Given the description of an element on the screen output the (x, y) to click on. 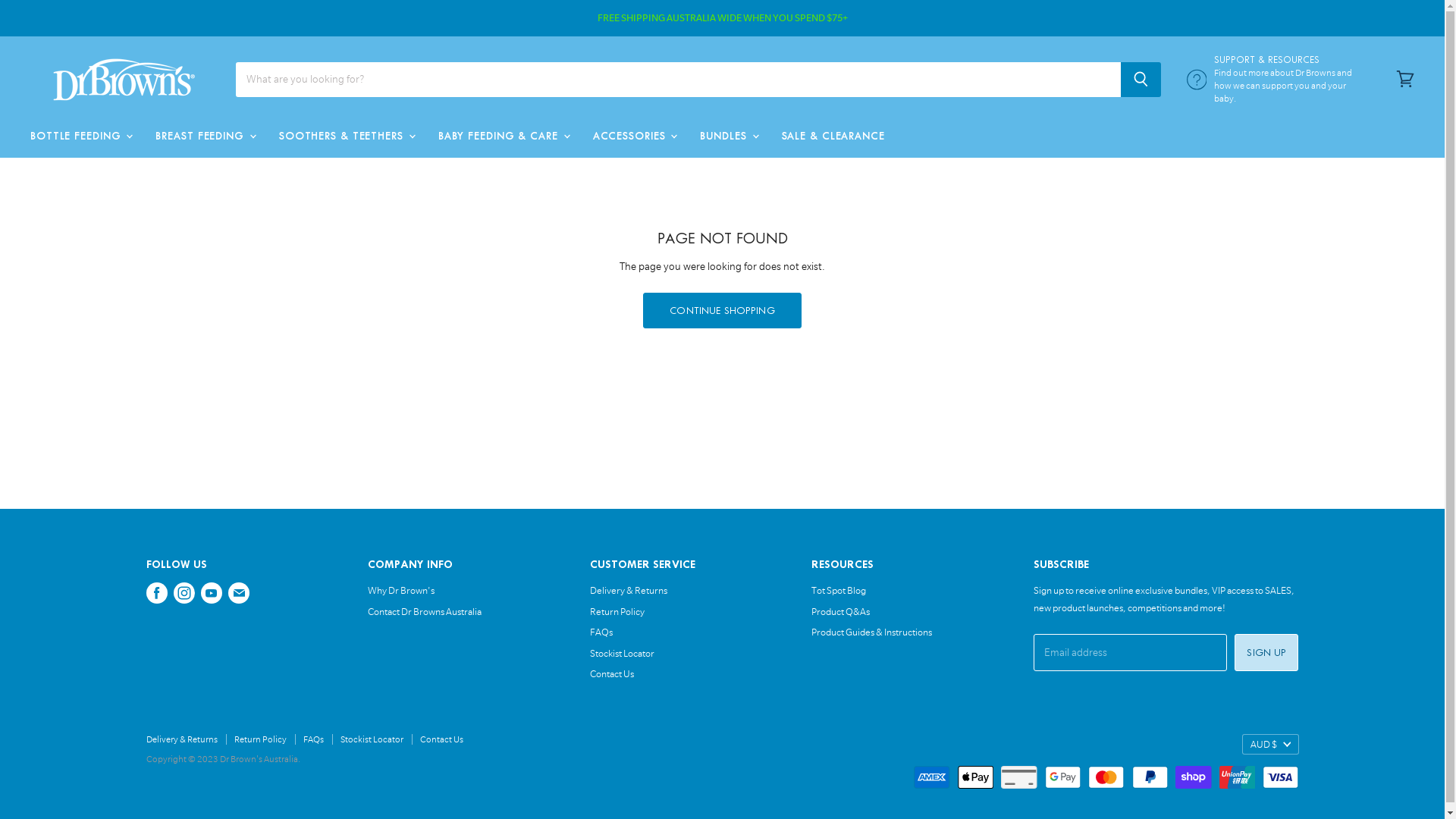
BOTTLE FEEDING Element type: text (79, 135)
ACCESSORIES Element type: text (634, 135)
Contact Us Element type: text (441, 739)
Contact Dr Browns Australia Element type: text (424, 611)
AUD $ Element type: text (1270, 744)
Delivery & Returns Element type: text (628, 590)
BUNDLES Element type: text (727, 135)
Find us on Facebook Element type: text (155, 592)
Product Q&As Element type: text (840, 611)
Find us on E-mail Element type: text (237, 592)
SALE & CLEARANCE Element type: text (833, 135)
SOOTHERS & TEETHERS Element type: text (345, 135)
FAQs Element type: text (313, 739)
Why Dr Brown's Element type: text (400, 590)
SIGN UP Element type: text (1266, 652)
Stockist Locator Element type: text (370, 739)
Find us on Instagram Element type: text (183, 592)
Tot Spot Blog Element type: text (838, 590)
Return Policy Element type: text (259, 739)
CONTINUE SHOPPING Element type: text (722, 310)
Stockist Locator Element type: text (621, 652)
Product Guides & Instructions Element type: text (871, 631)
Contact Us Element type: text (611, 673)
FAQs Element type: text (600, 631)
Return Policy Element type: text (616, 611)
Delivery & Returns Element type: text (180, 739)
Find us on Youtube Element type: text (210, 592)
BABY FEEDING & CARE Element type: text (502, 135)
BREAST FEEDING Element type: text (204, 135)
View cart Element type: text (1404, 79)
